Given the description of an element on the screen output the (x, y) to click on. 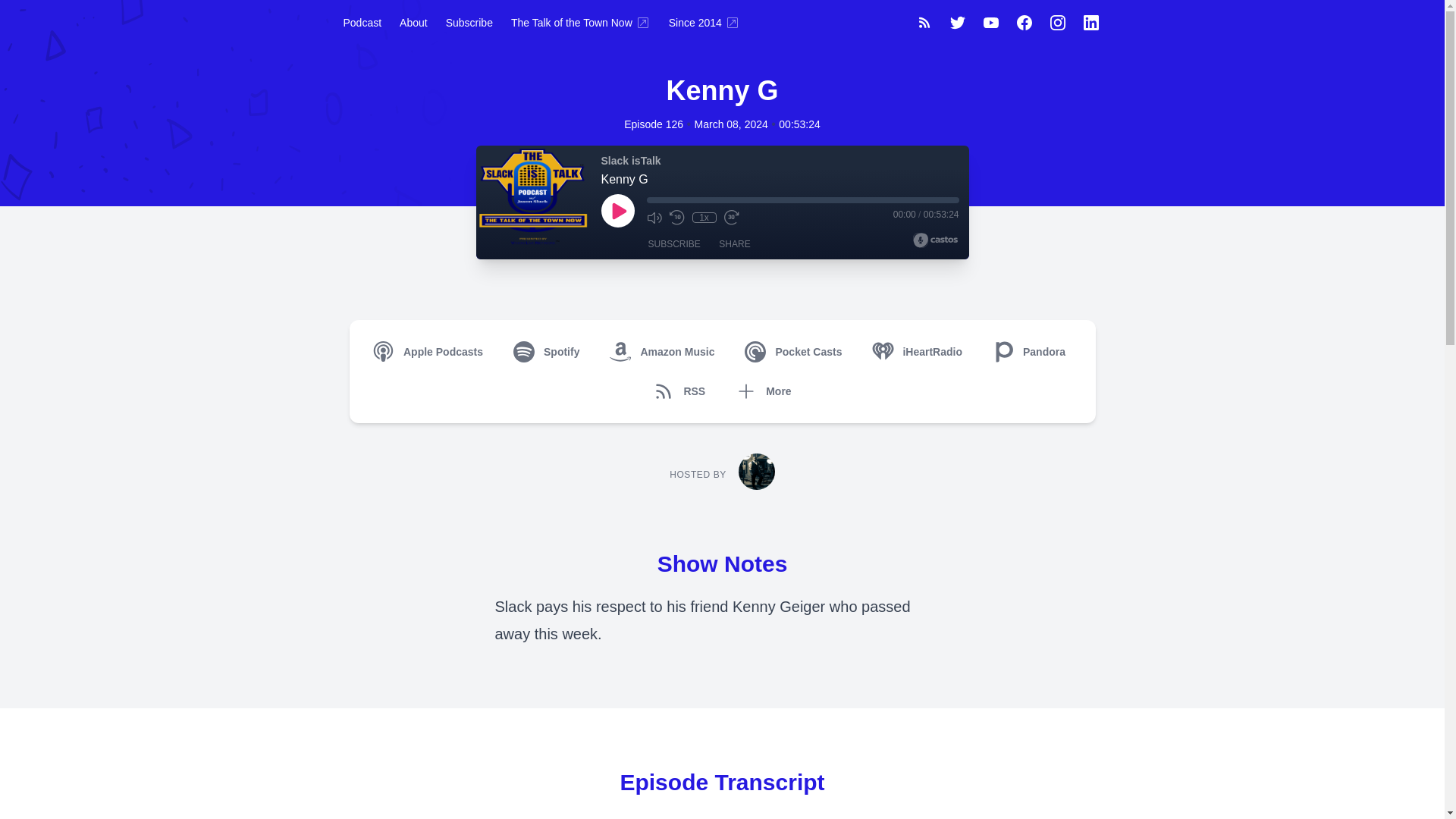
SUBSCRIBE (673, 243)
Since 2014 (704, 22)
Seek (802, 200)
The Talk of the Town Now (580, 22)
SHARE (734, 243)
Spotify (548, 351)
1x (703, 217)
Apple Podcasts (430, 351)
Podcast (361, 22)
Pocket Casts (796, 351)
